Given the description of an element on the screen output the (x, y) to click on. 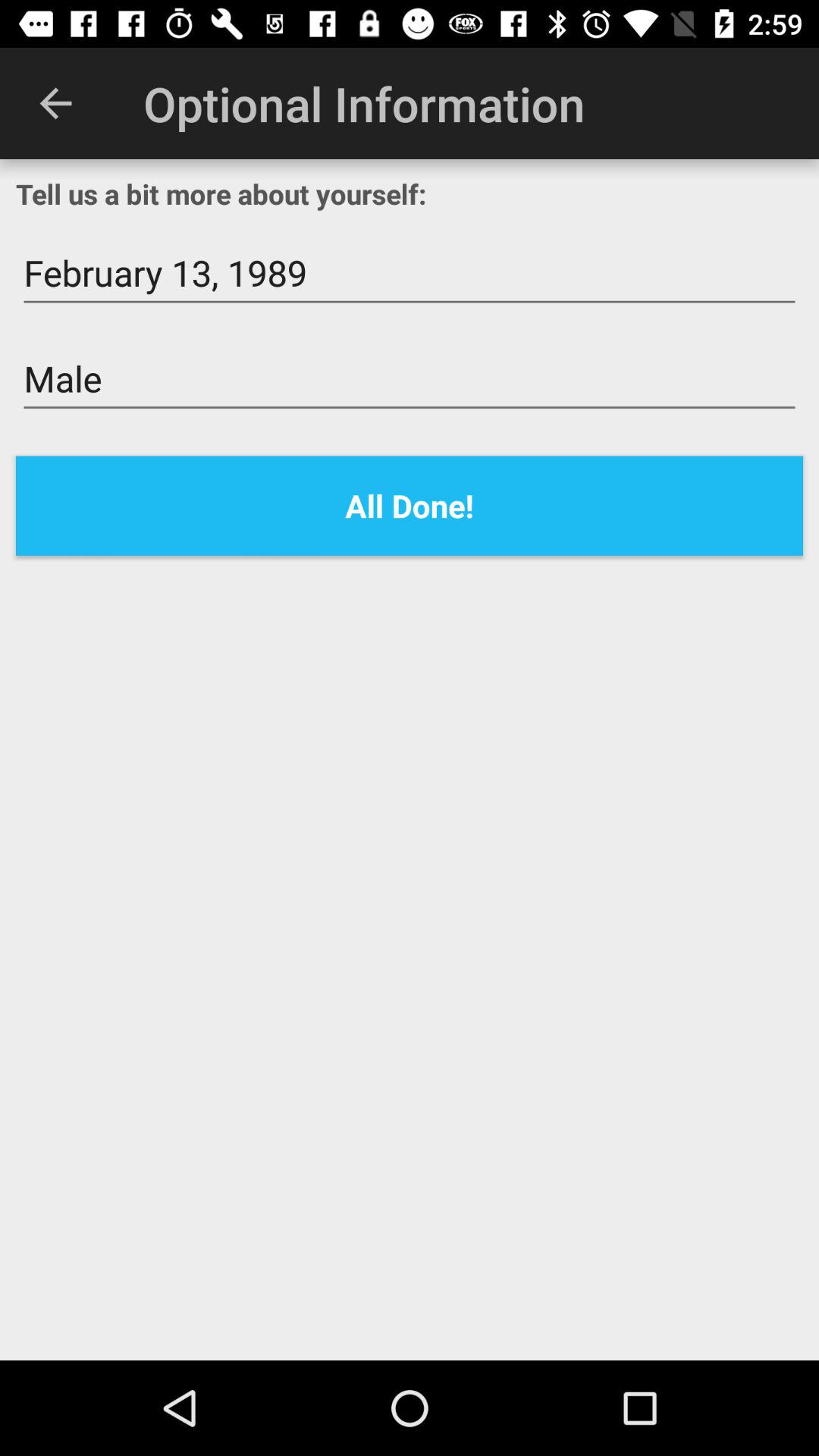
turn on item above the tell us a item (55, 103)
